Given the description of an element on the screen output the (x, y) to click on. 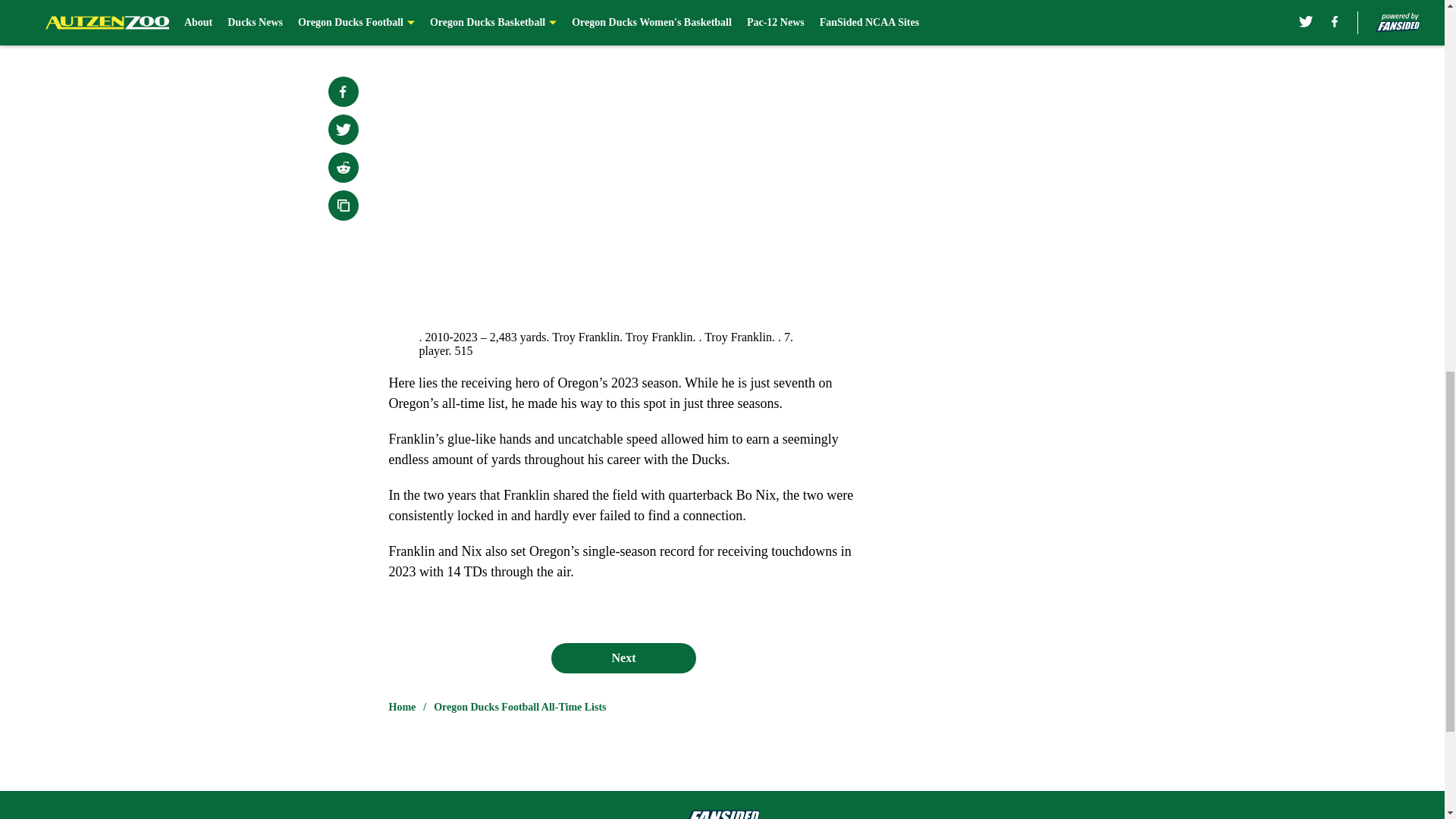
Home (401, 707)
Next (622, 657)
Oregon Ducks Football All-Time Lists (519, 707)
Next (813, 20)
Prev (433, 20)
